Given the description of an element on the screen output the (x, y) to click on. 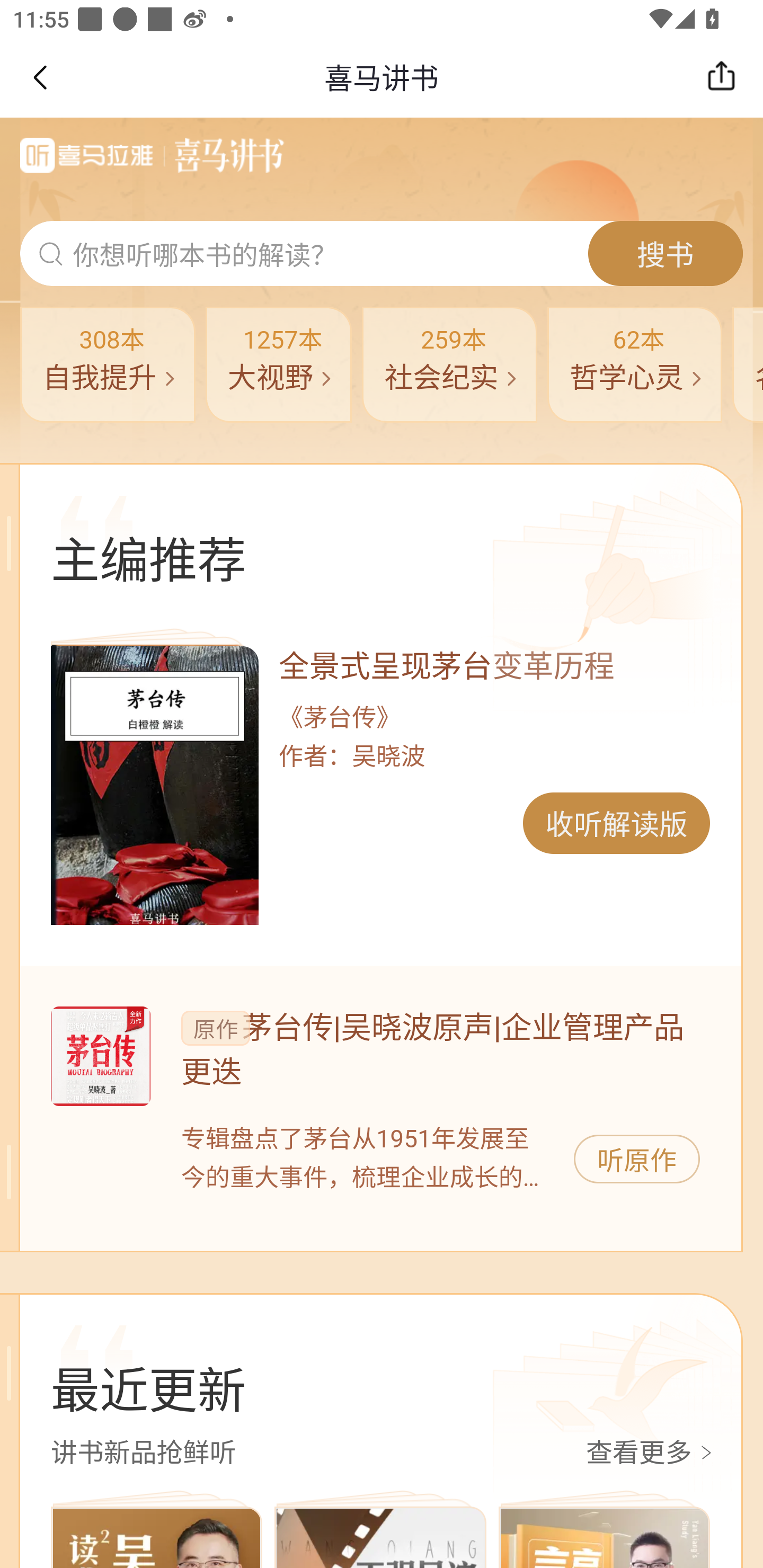
返回 (39, 77)
分享 (725, 77)
ic_search@3x 你想听哪本书的解读？ 搜书 (381, 253)
308本 自我提升 search_tab_go@3x (107, 364)
1257本 大视野 search_tab_go@3x (278, 364)
259本 社会纪实 search_tab_go@3x (448, 364)
62本 哲学心灵 search_tab_go@3x (635, 364)
wDMRKpPTcKyaAAAAABJRU5ErkJggg== 图片，按钮 (154, 785)
收听解读版 (615, 822)
图片，按钮 (100, 1055)
听原作 (636, 1158)
查看更多 切片 (651, 1453)
